Given the description of an element on the screen output the (x, y) to click on. 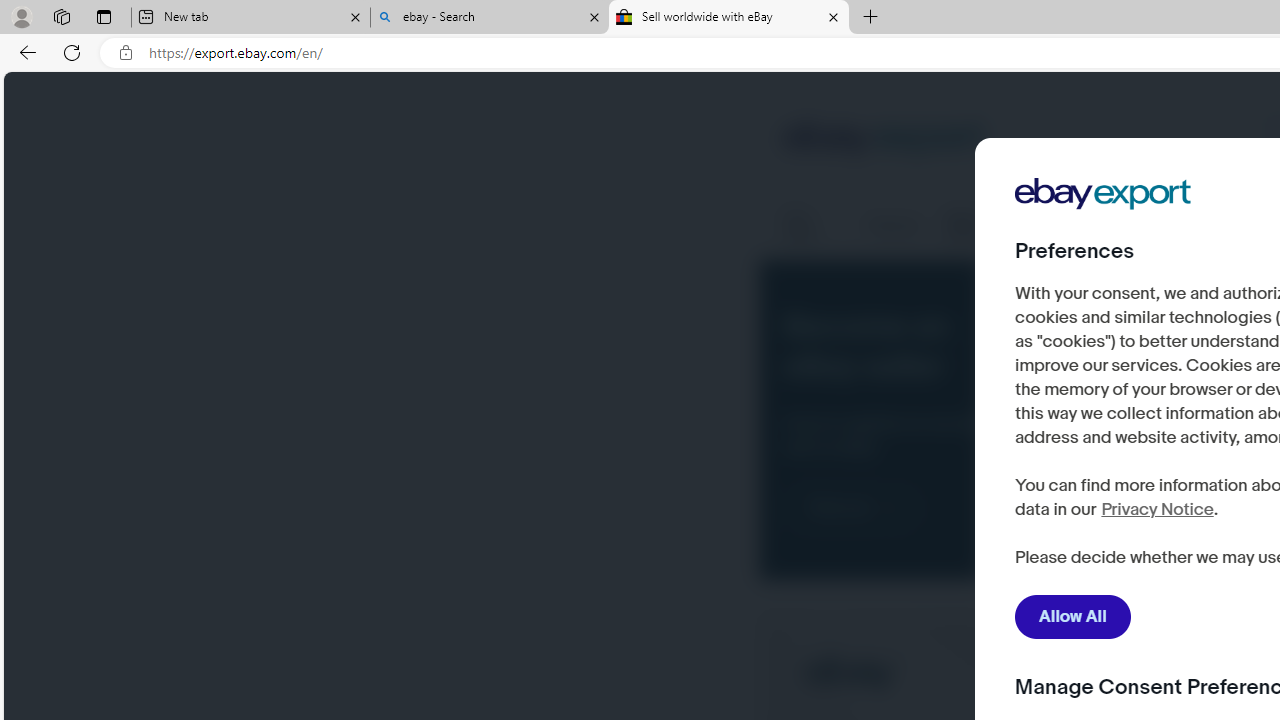
Find out (852, 507)
Manage listings (989, 225)
First steps (812, 225)
Shipping (893, 226)
Ebay Export (1110, 255)
Class: btn__arrow (890, 507)
